Given the description of an element on the screen output the (x, y) to click on. 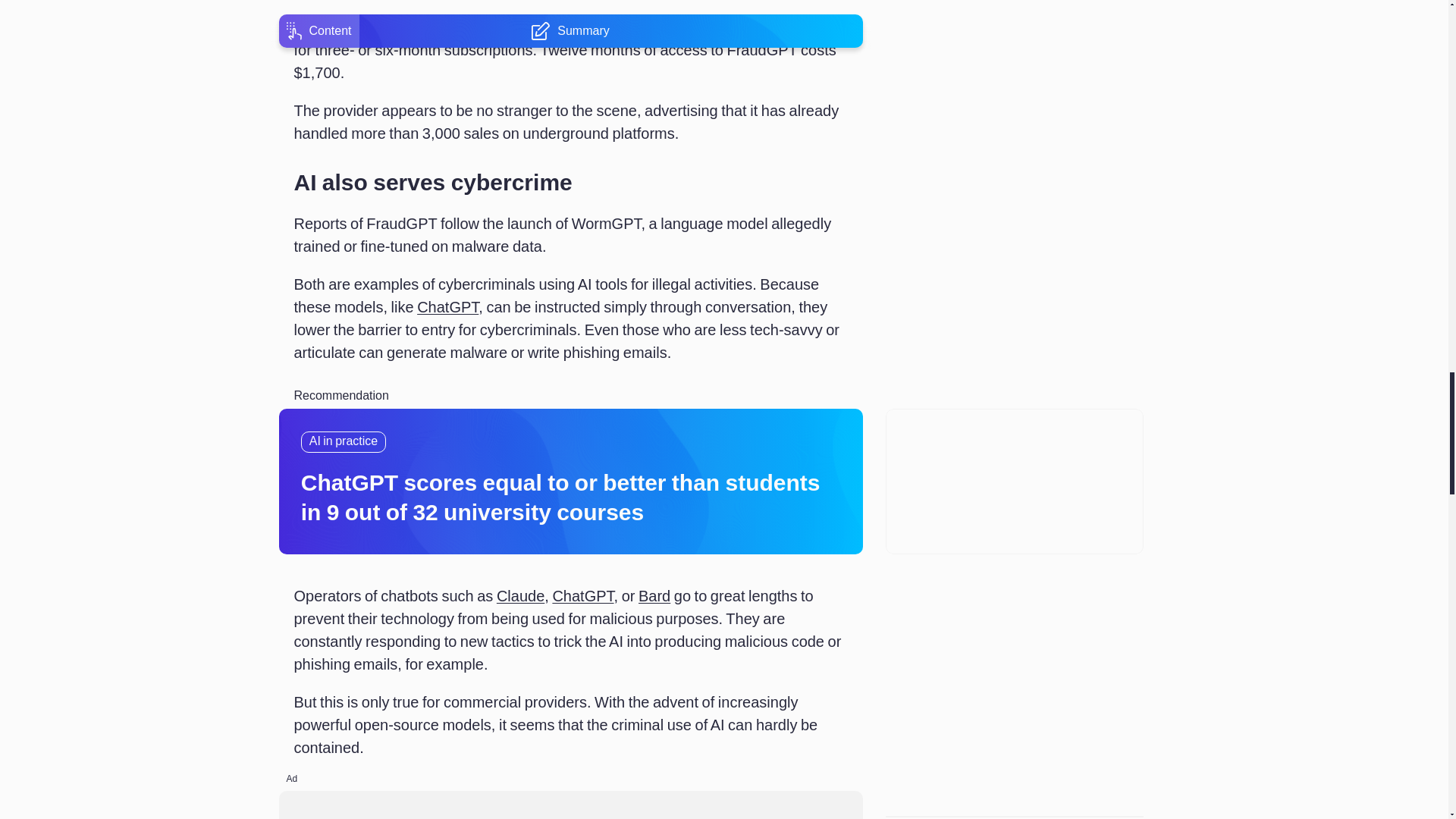
Claude (520, 596)
ChatGPT (581, 596)
AI in practice (343, 441)
ChatGPT (447, 306)
Bard (654, 596)
